Given the description of an element on the screen output the (x, y) to click on. 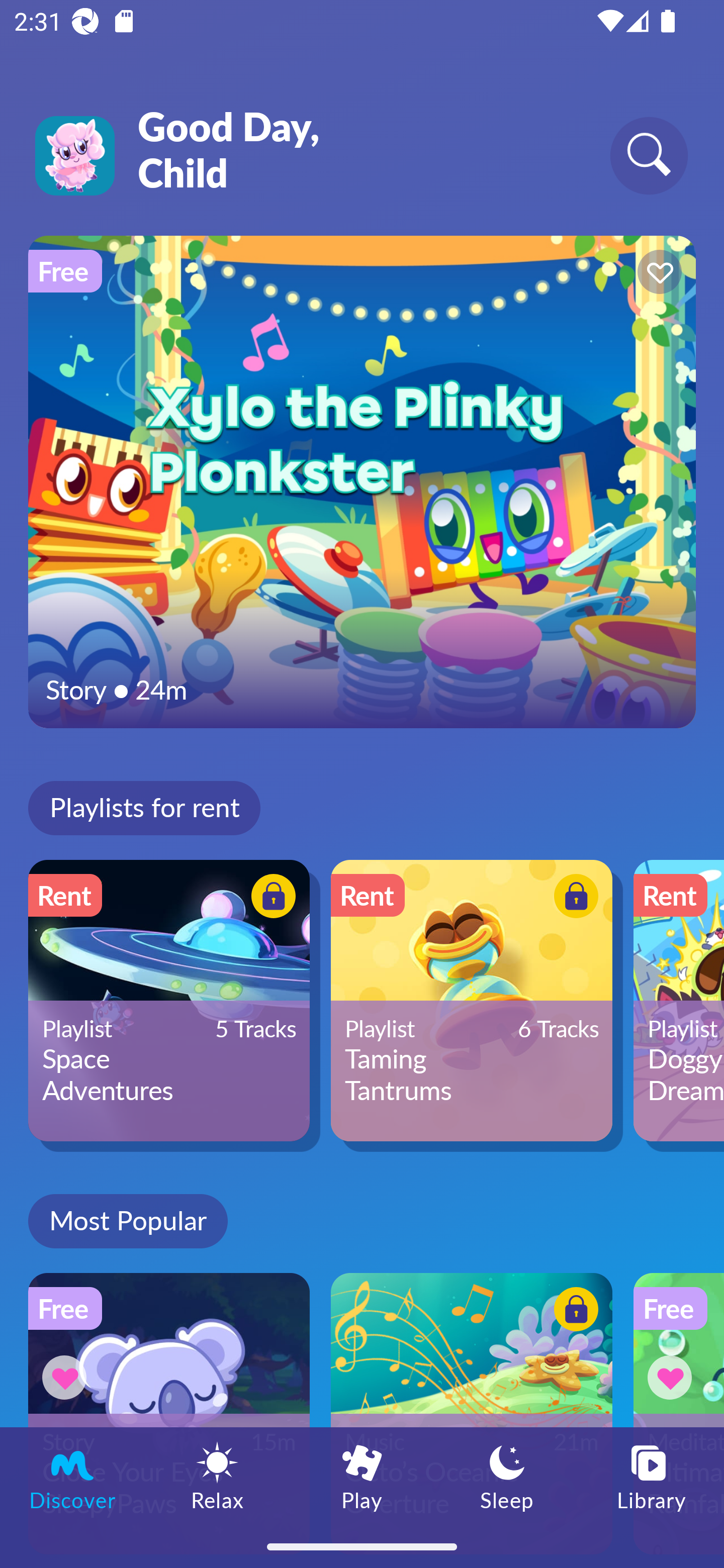
Search (648, 154)
Featured Content Free Button Story ● 24m (361, 481)
Button (656, 274)
Button (269, 898)
Button (573, 898)
Button (573, 1312)
Button (67, 1377)
Button (672, 1377)
Relax (216, 1475)
Play (361, 1475)
Sleep (506, 1475)
Library (651, 1475)
